Given the description of an element on the screen output the (x, y) to click on. 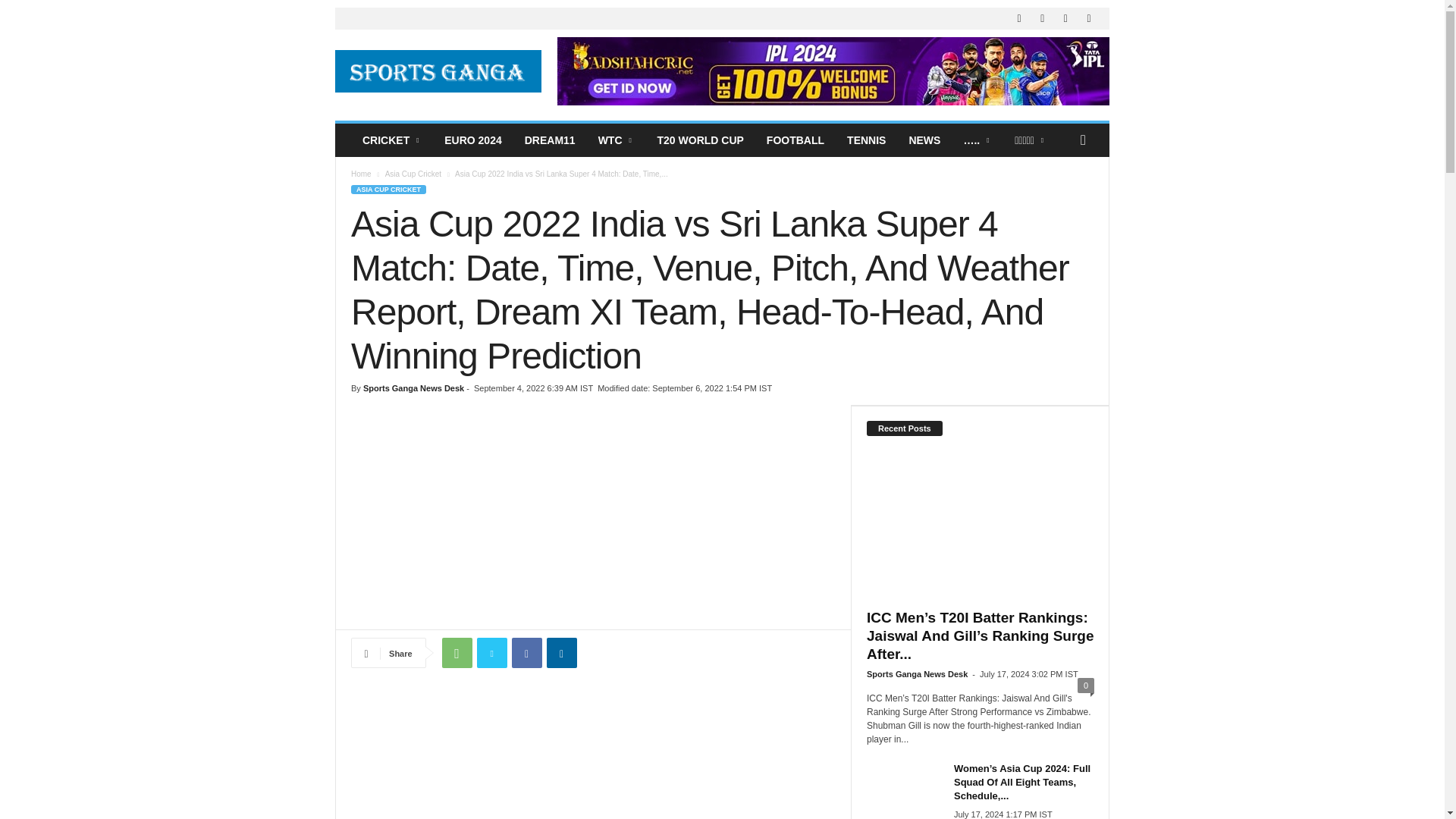
Linkedin (561, 653)
Twitter (491, 653)
WhatsApp (456, 653)
Advertisement (593, 517)
View all posts in Asia Cup Cricket (413, 173)
SPORTS GANGA (437, 70)
Facebook (526, 653)
